Given the description of an element on the screen output the (x, y) to click on. 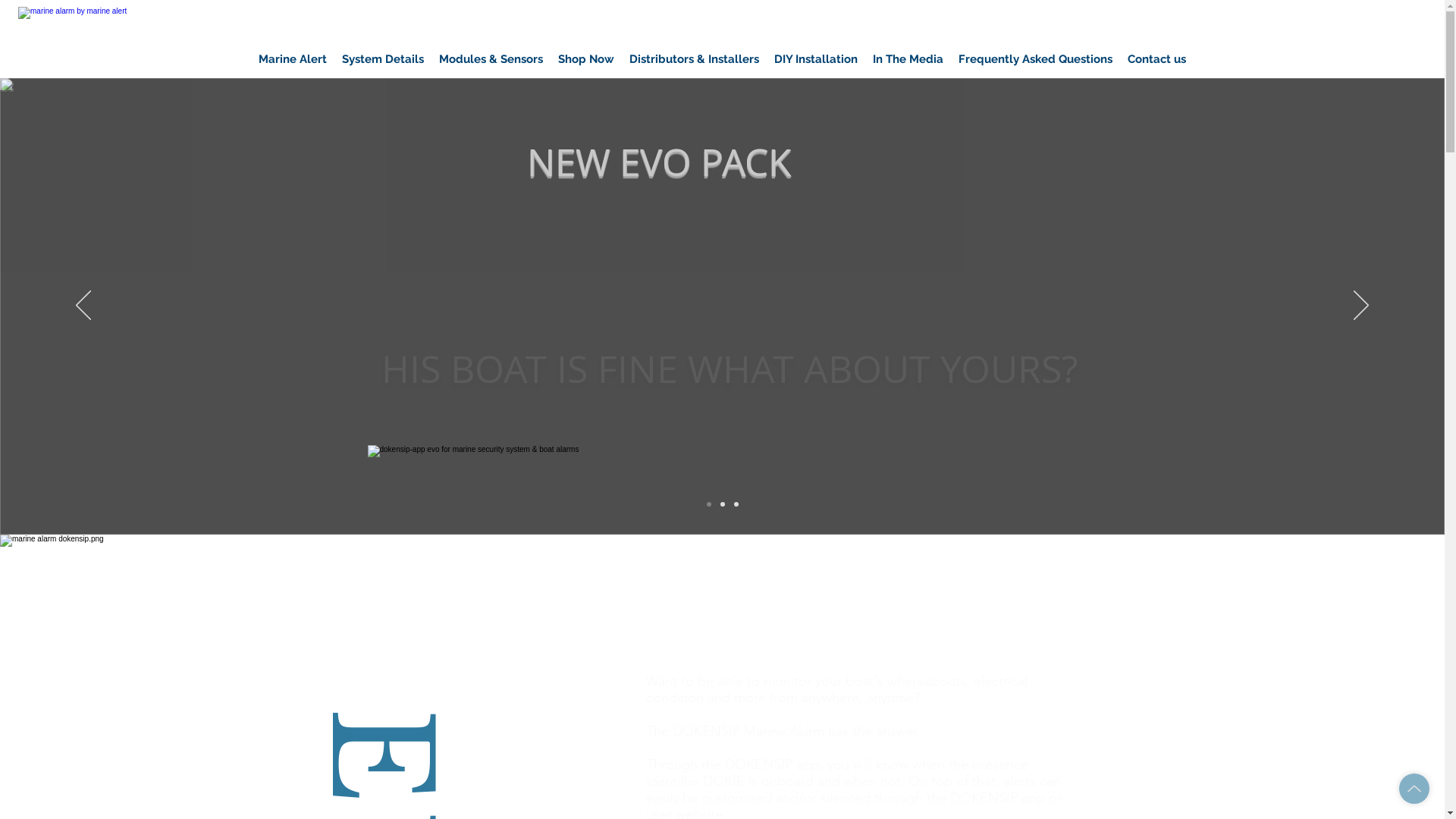
Distributors & Installers Element type: text (693, 59)
DIY Installation Element type: text (815, 59)
Marine Alert Element type: text (292, 59)
Shop Now Element type: text (585, 59)
System Details Element type: text (382, 59)
Frequently Asked Questions Element type: text (1035, 59)
In The Media Element type: text (907, 59)
Contact us Element type: text (1156, 59)
